Given the description of an element on the screen output the (x, y) to click on. 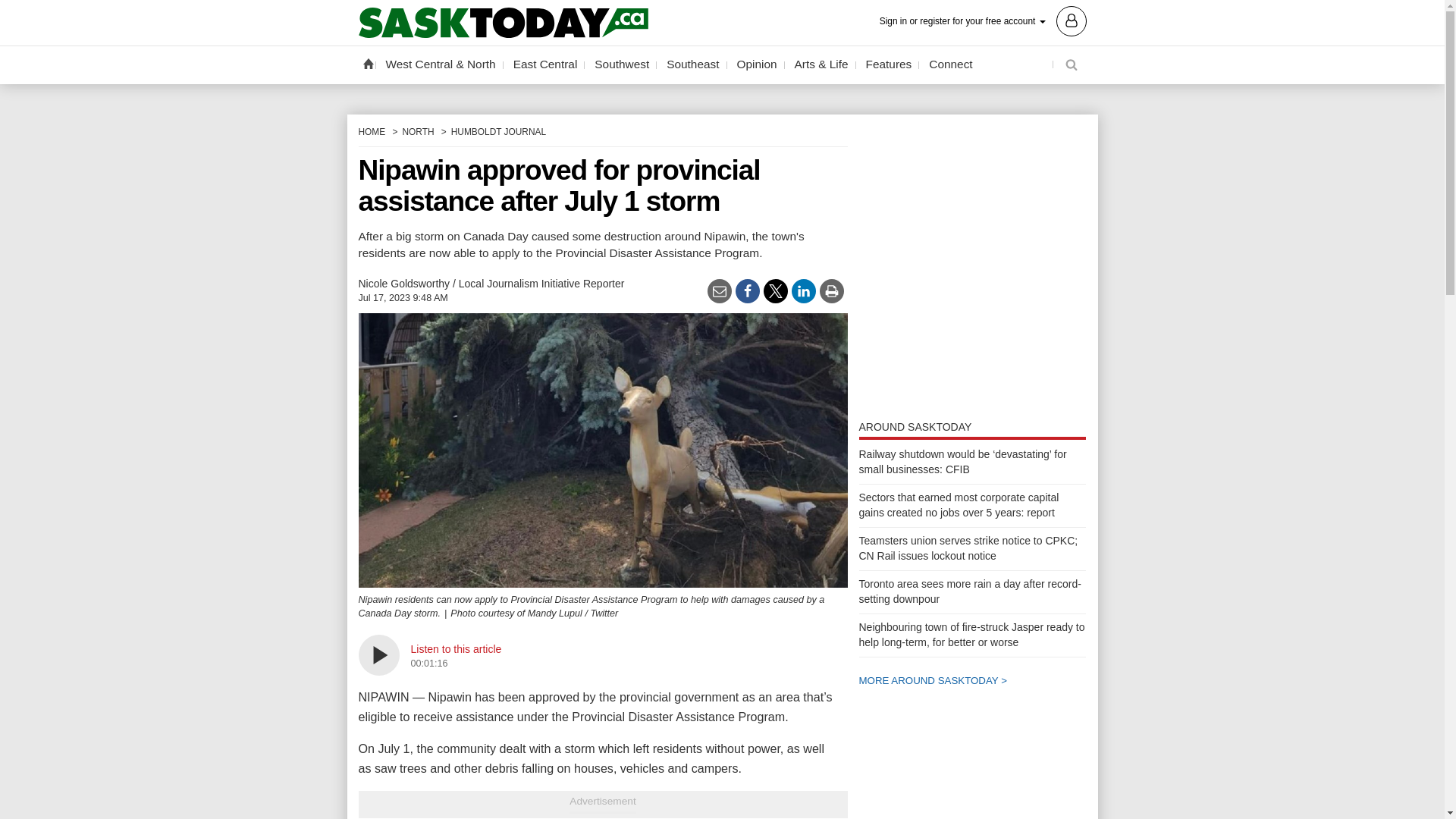
Southwest (622, 64)
Sign in or register for your free account (982, 20)
Home (367, 63)
East Central (545, 64)
